Given the description of an element on the screen output the (x, y) to click on. 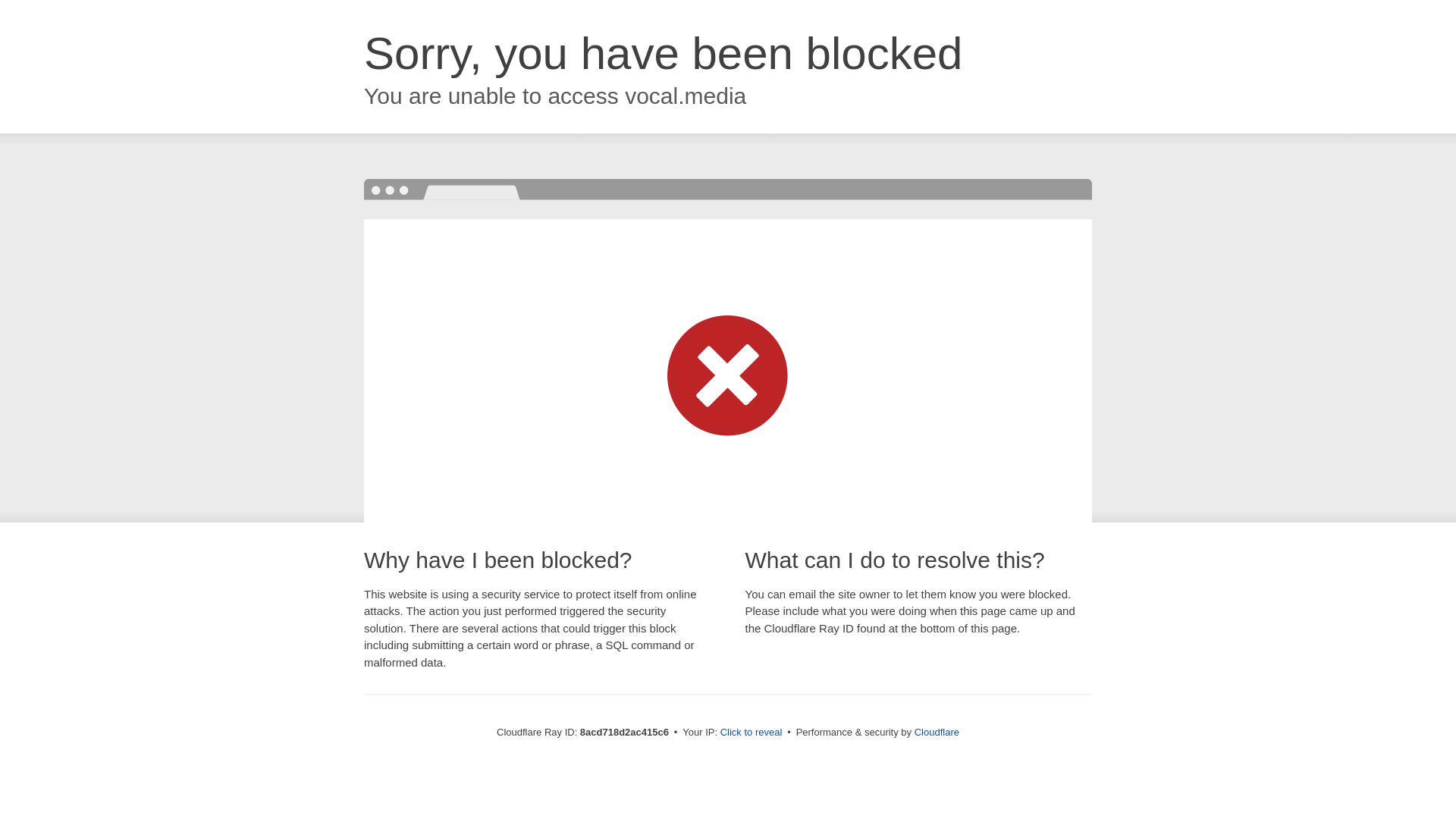
Click to reveal (751, 732)
Cloudflare (936, 731)
